Given the description of an element on the screen output the (x, y) to click on. 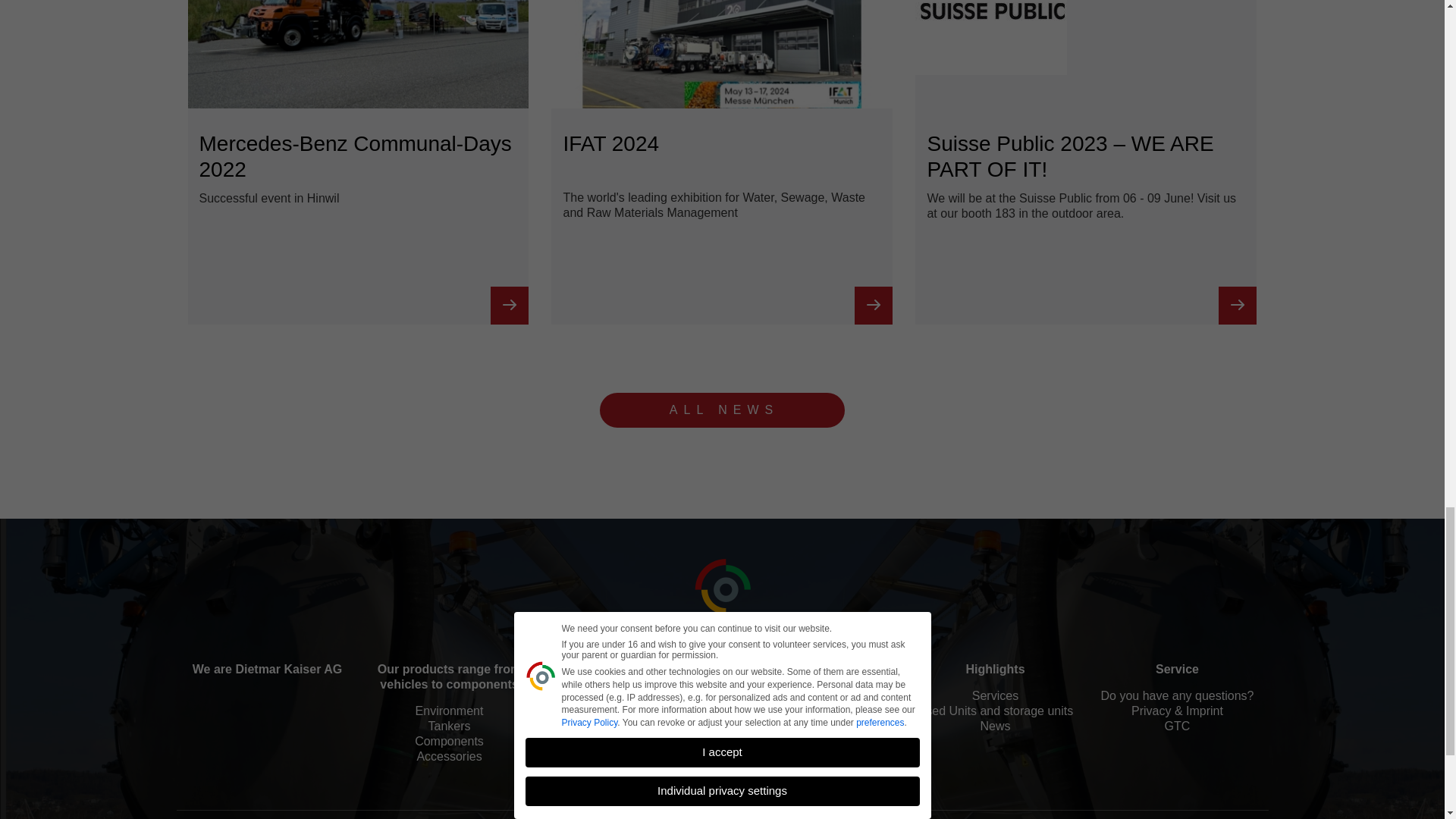
We are Dietmar Kaiser AG (267, 669)
Our products range from vehicles to components (358, 162)
Components (449, 676)
Tankers (449, 741)
Accessories (449, 726)
ALL NEWS (449, 756)
Environment (721, 410)
